Given the description of an element on the screen output the (x, y) to click on. 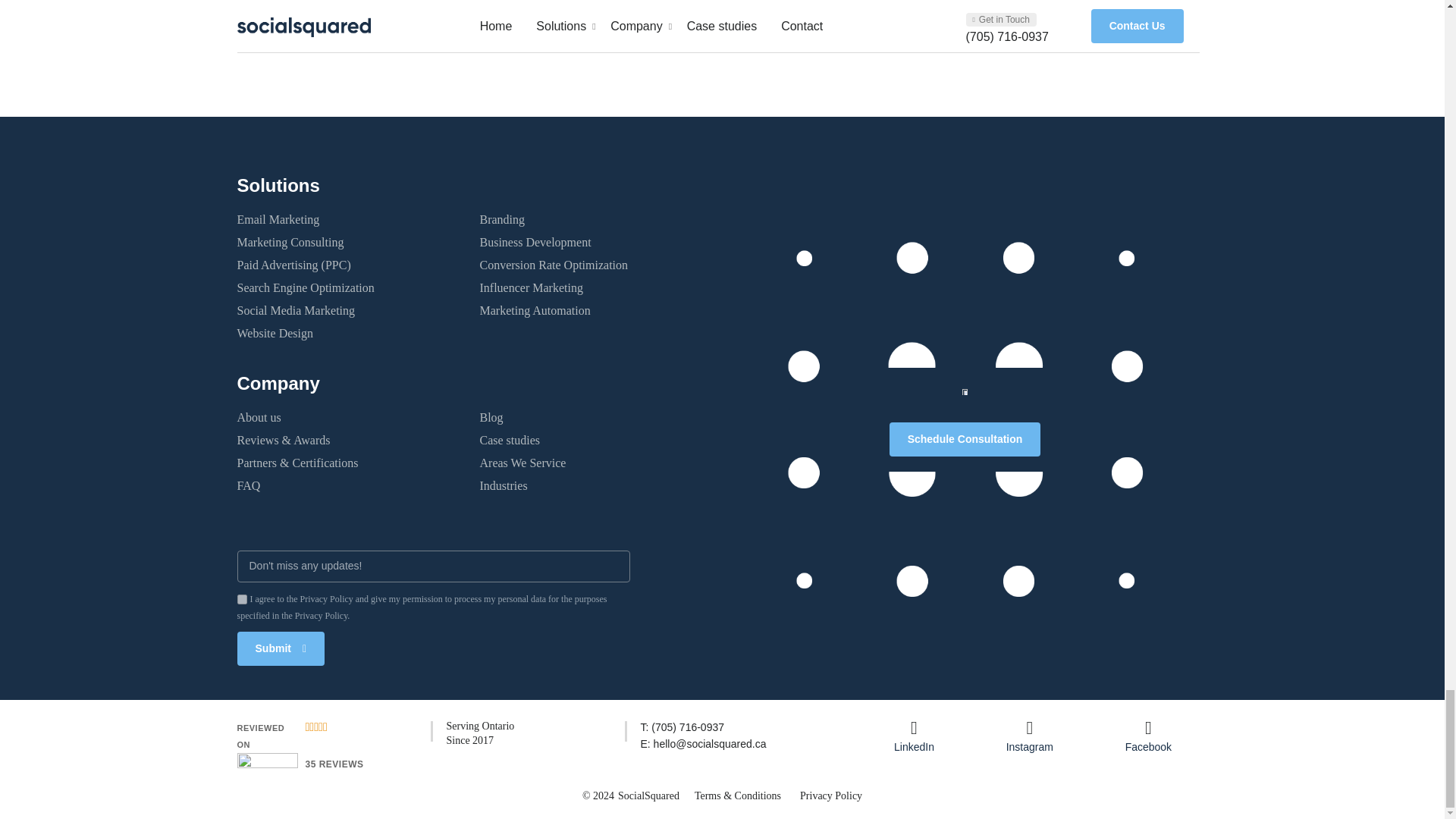
on (600, 451)
